Given the description of an element on the screen output the (x, y) to click on. 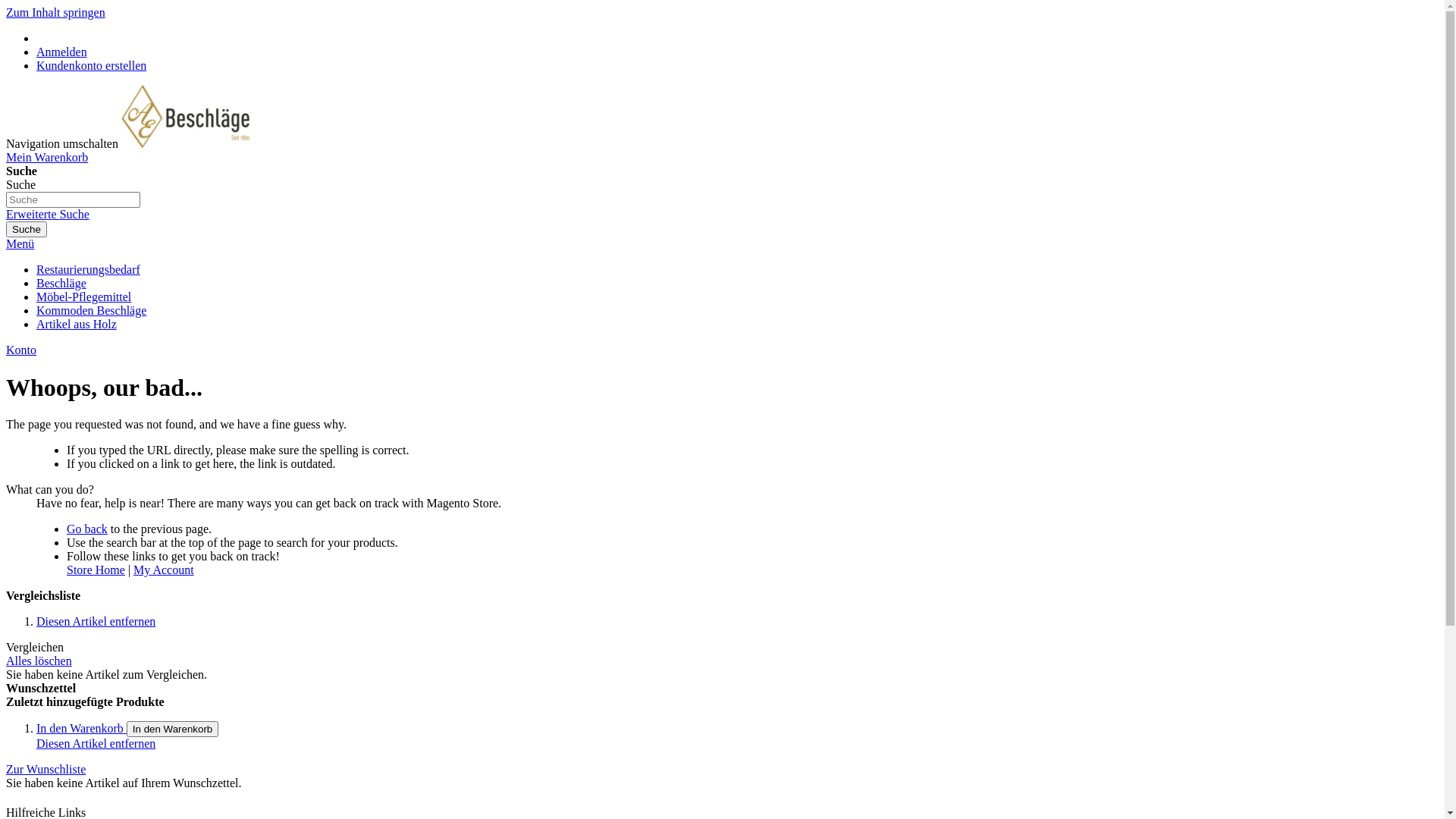
Store Home Element type: text (95, 569)
Erweiterte Suche Element type: text (47, 213)
Konto Element type: text (21, 349)
Mein Warenkorb Element type: text (46, 156)
Go back Element type: text (86, 528)
In den Warenkorb Element type: text (172, 729)
Diesen Artikel entfernen Element type: text (95, 743)
Vergleichen Element type: text (34, 646)
Zum Inhalt springen Element type: text (55, 12)
Artikel aus Holz Element type: text (76, 323)
Kundenkonto erstellen Element type: text (91, 65)
Zur Wunschliste Element type: text (45, 768)
Anmelden Element type: text (61, 51)
Restaurierungsbedarf Element type: text (88, 269)
Diesen Artikel entfernen Element type: text (95, 621)
Suche Element type: text (26, 229)
My Account Element type: text (163, 569)
In den Warenkorb Element type: text (81, 727)
